Given the description of an element on the screen output the (x, y) to click on. 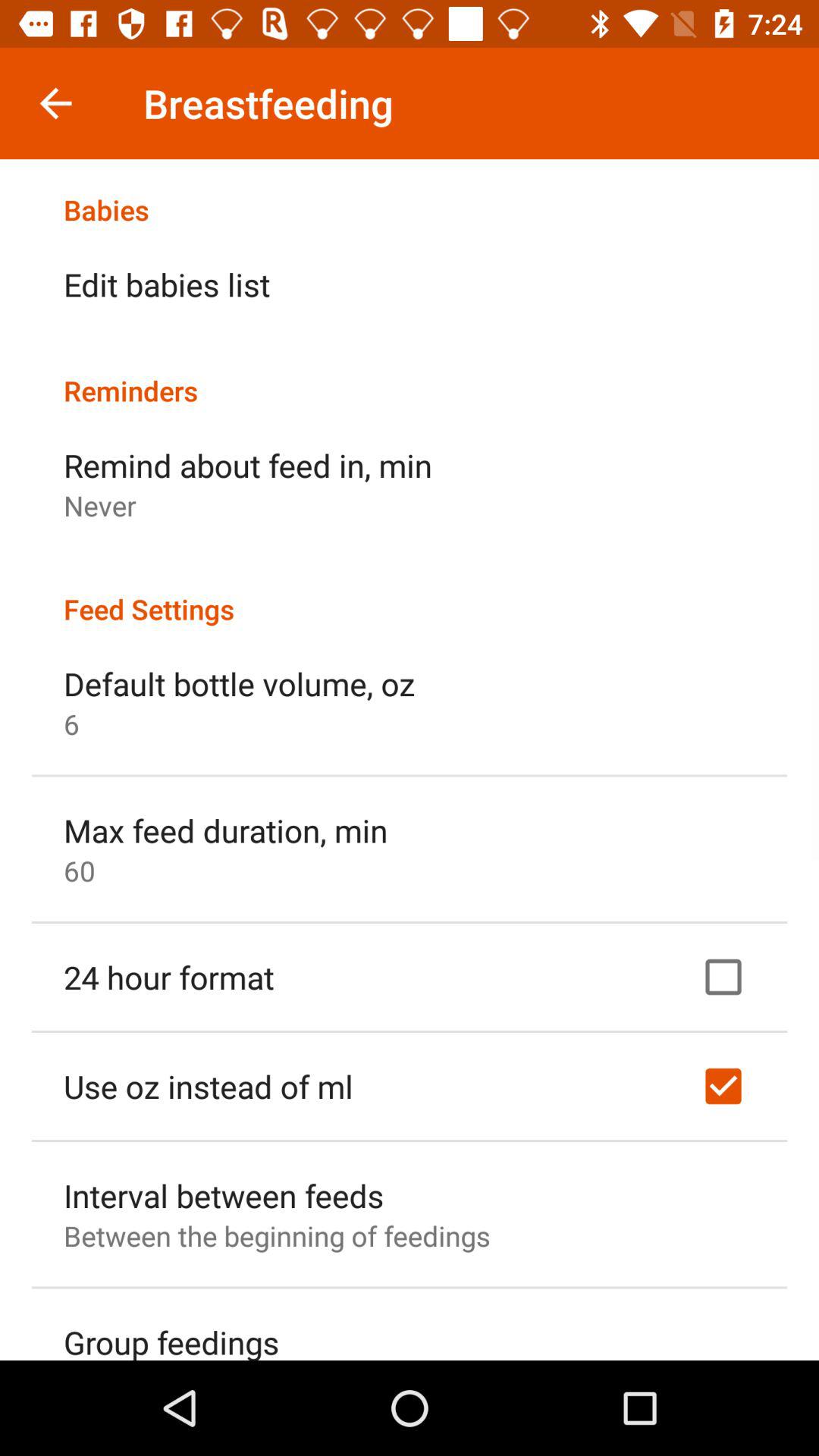
flip until the never icon (99, 505)
